Given the description of an element on the screen output the (x, y) to click on. 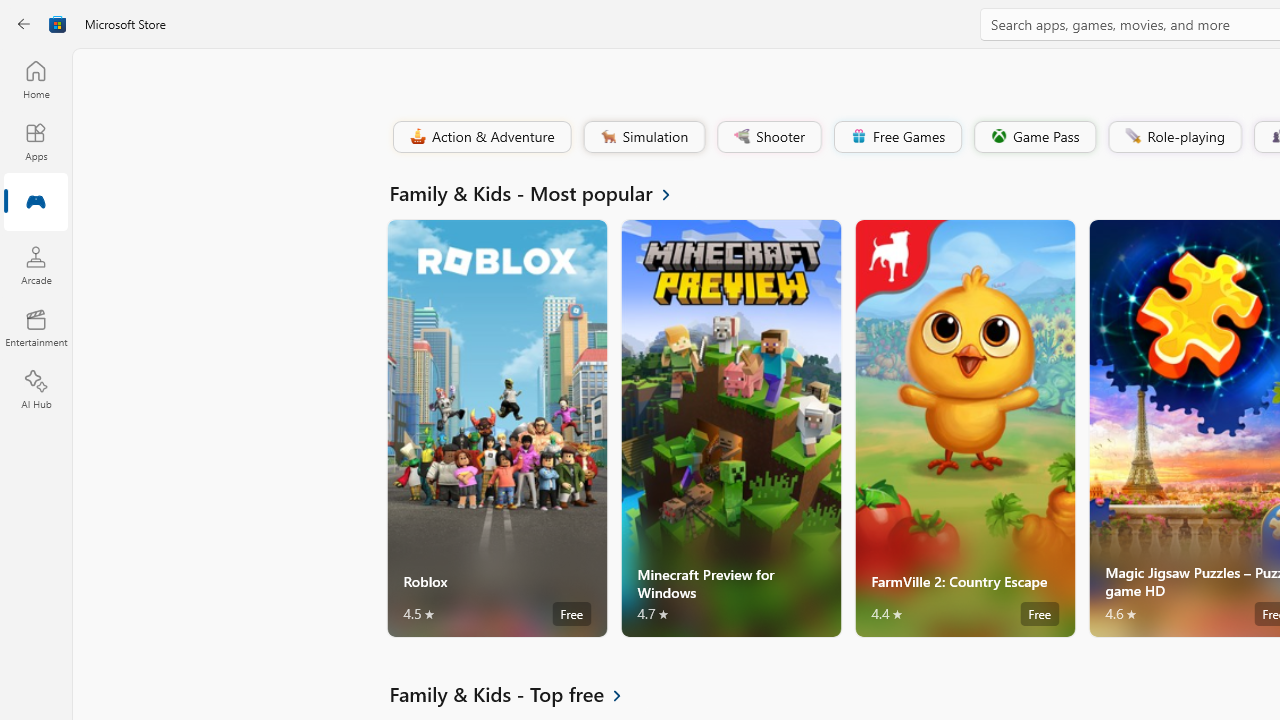
Back (24, 24)
Action & Adventure (480, 136)
Entertainment (35, 327)
See all  Family & Kids - Most popular (541, 192)
